Given the description of an element on the screen output the (x, y) to click on. 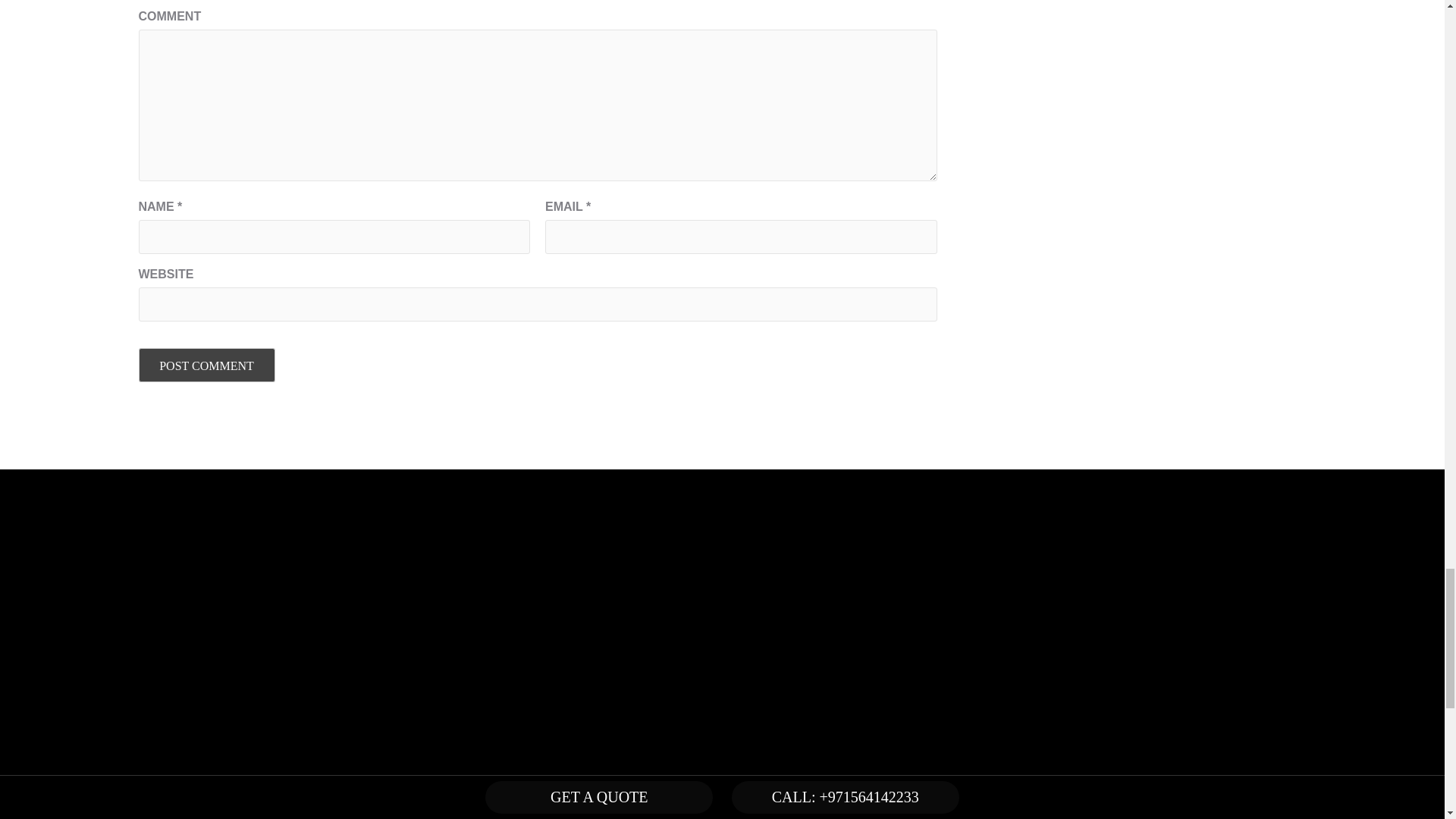
Post Comment (206, 365)
